Given the description of an element on the screen output the (x, y) to click on. 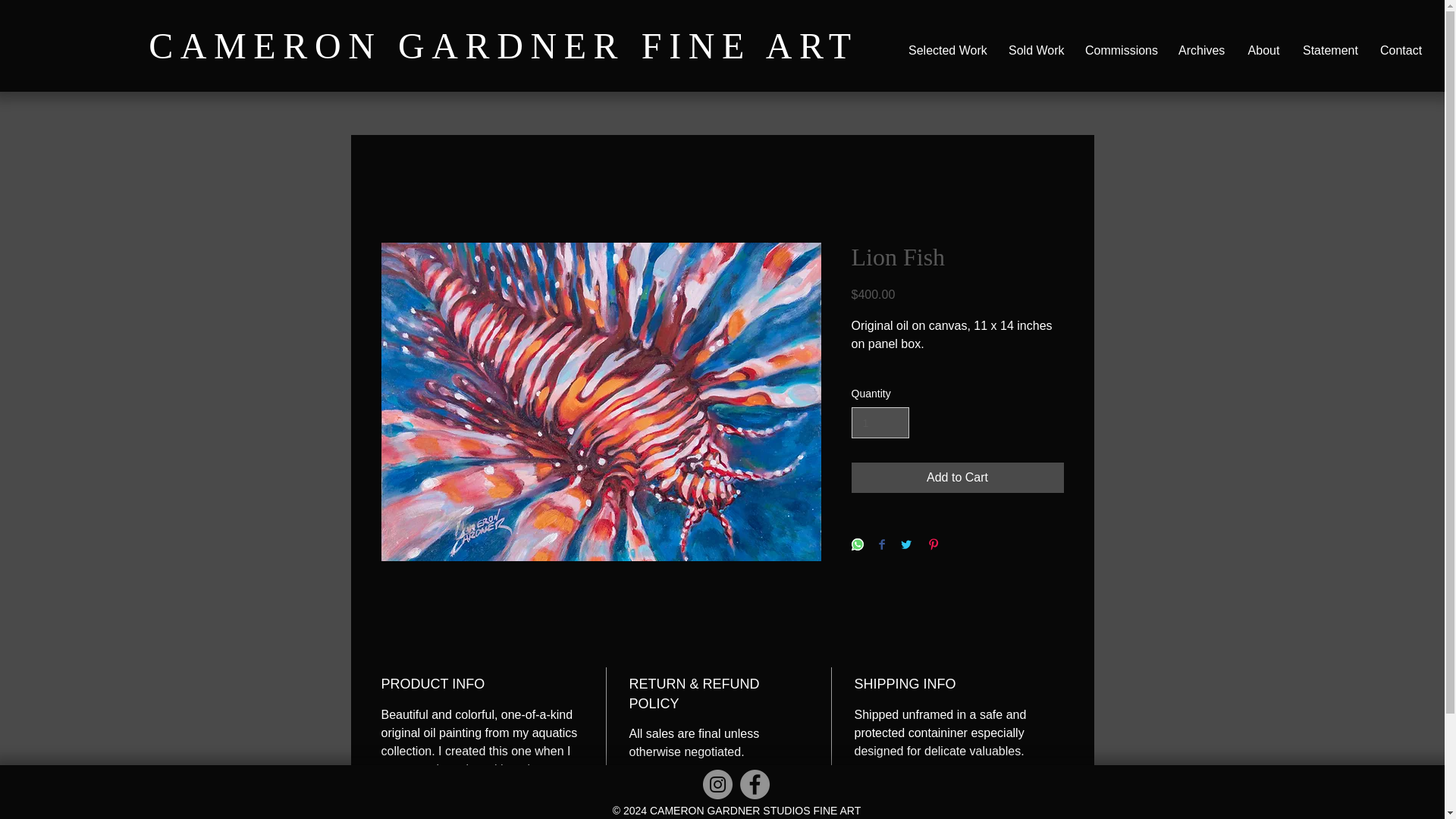
About (1263, 50)
Sold Work (1035, 50)
Statement (1329, 50)
1 (879, 422)
Add to Cart (956, 477)
CAMERON GARDNER FINE ART (503, 45)
Archives (1201, 50)
Contact (1400, 50)
Commissions (1120, 50)
Selected Work (946, 50)
